Given the description of an element on the screen output the (x, y) to click on. 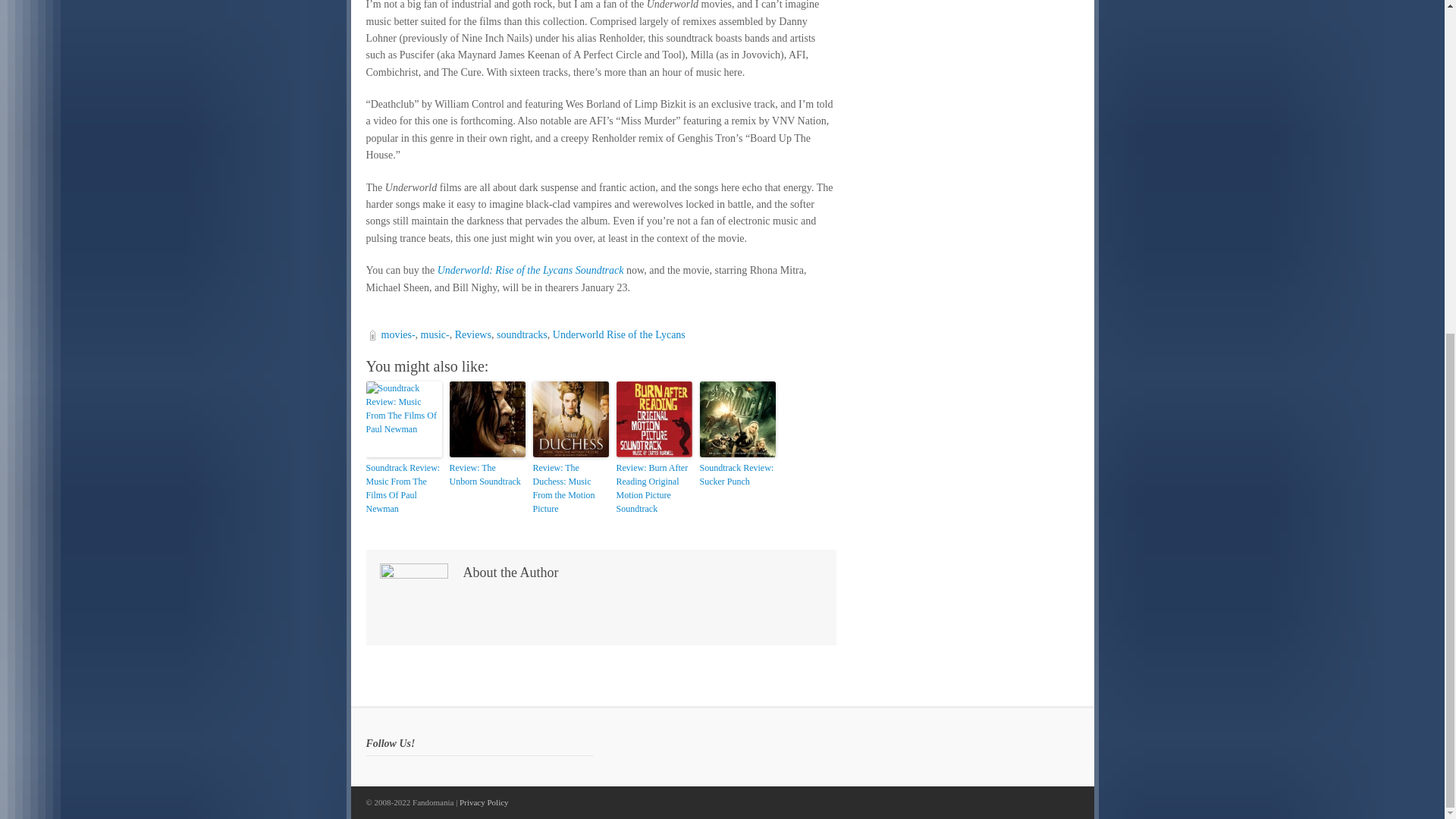
movies- (397, 334)
soundtracks (521, 334)
Underworld Rise of the Lycans (619, 334)
Underworld: Rise of the Lycans Soundtrack (531, 270)
Soundtrack Review: Sucker Punch (736, 474)
music- (434, 334)
Review: The Duchess: Music From the Motion Picture (570, 488)
Review: The Unborn Soundtrack (486, 474)
Soundtrack Review: Music From The Films Of Paul Newman (403, 488)
